Given the description of an element on the screen output the (x, y) to click on. 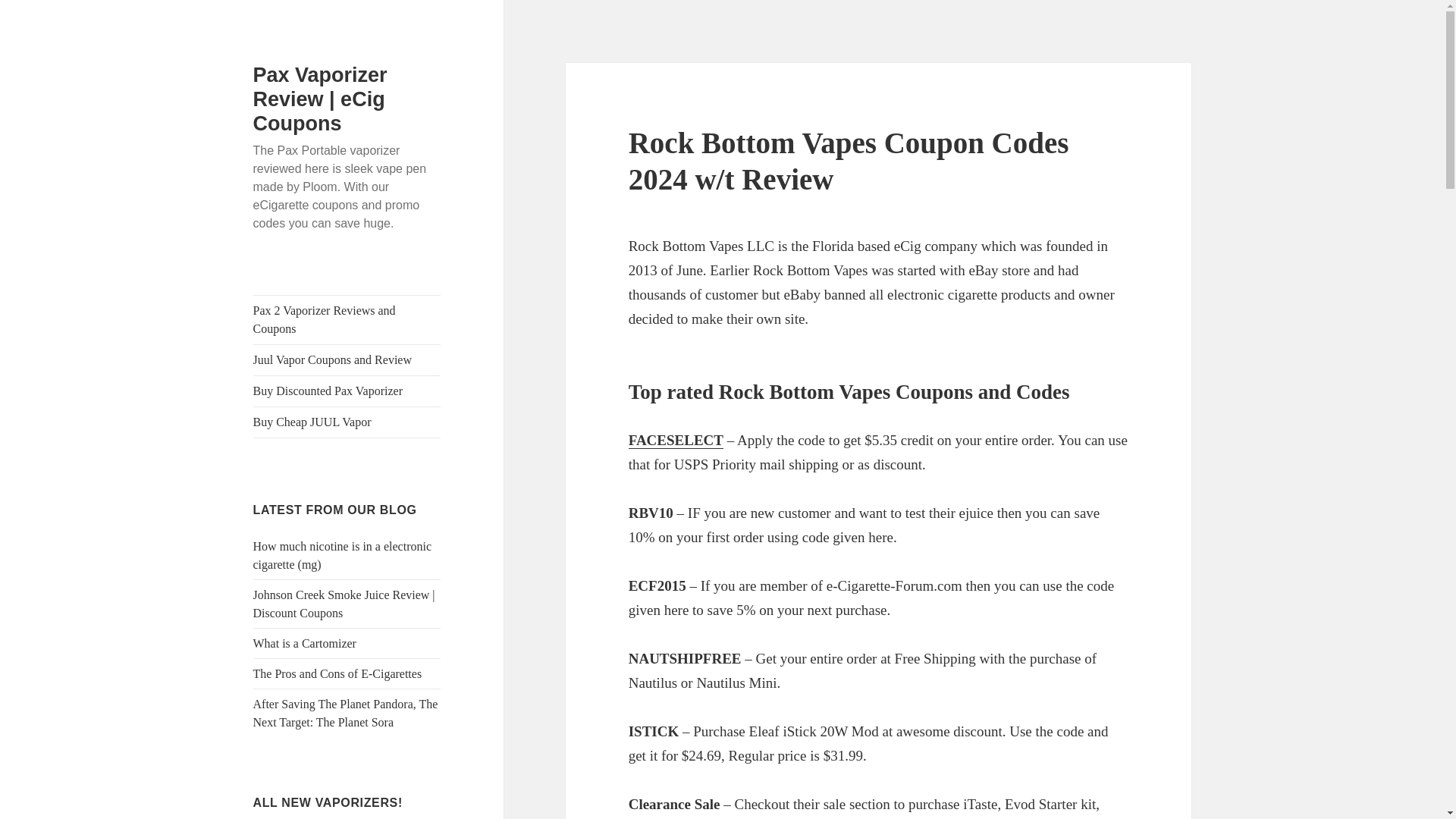
Buy Discounted Pax Vaporizer (347, 390)
Juul Vapor Coupons and Review (347, 359)
Pax 2 Vaporizer Reviews and Coupons (347, 319)
What is a Cartomizer (304, 643)
FACESELECT (675, 440)
Buy Cheap JUUL Vapor (347, 422)
The Pros and Cons of E-Cigarettes (337, 673)
